Given the description of an element on the screen output the (x, y) to click on. 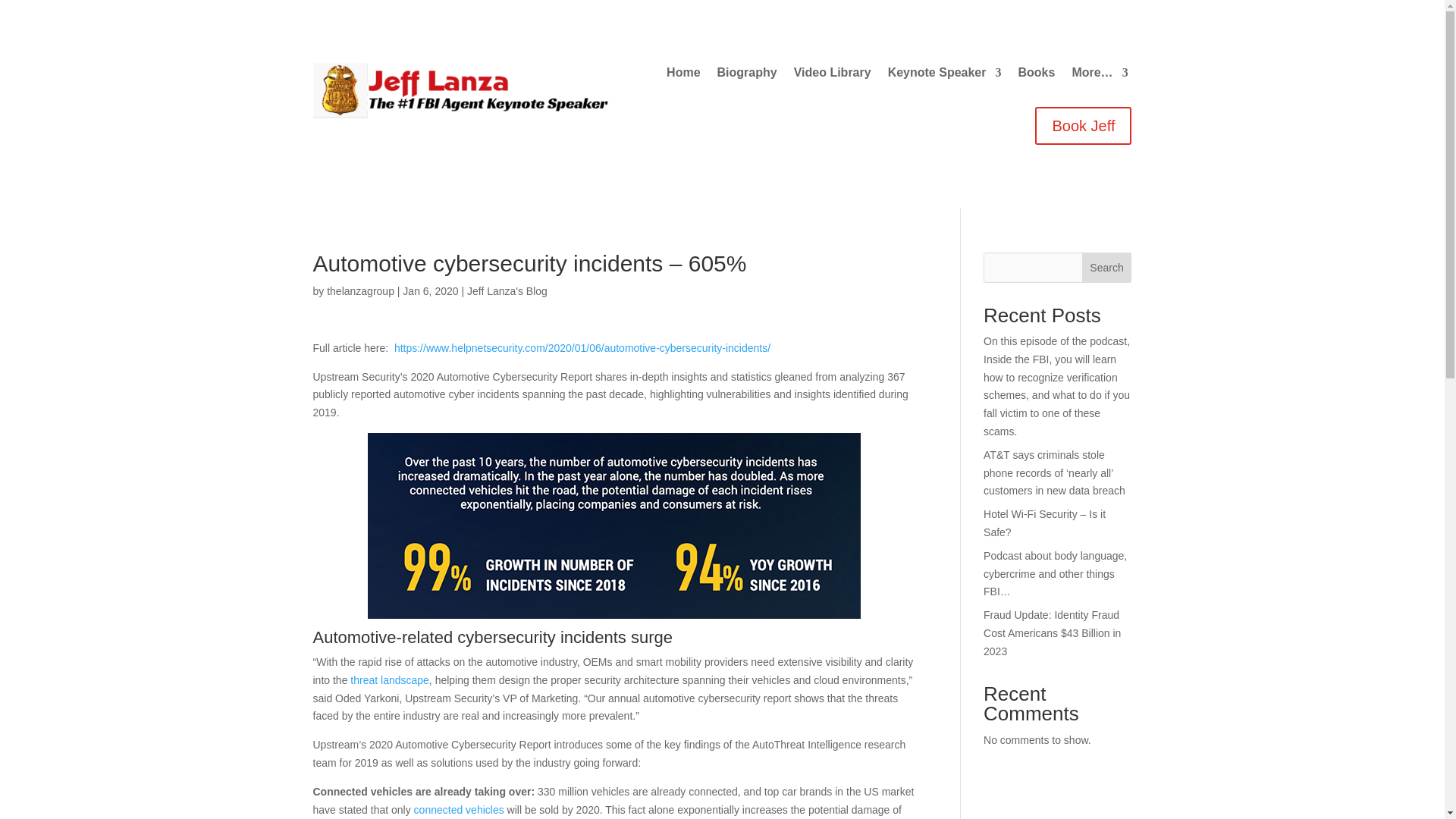
Biography (747, 75)
thelanzagroup (360, 291)
Home (683, 75)
threat landscape (389, 680)
Video Library (831, 75)
Books (1035, 75)
Keynote Speaker (944, 75)
Search (1106, 267)
Posts by thelanzagroup (360, 291)
connected vehicles (458, 809)
Jeff Lanza's Blog (507, 291)
Key findings (614, 526)
Book Jeff (1083, 125)
